Given the description of an element on the screen output the (x, y) to click on. 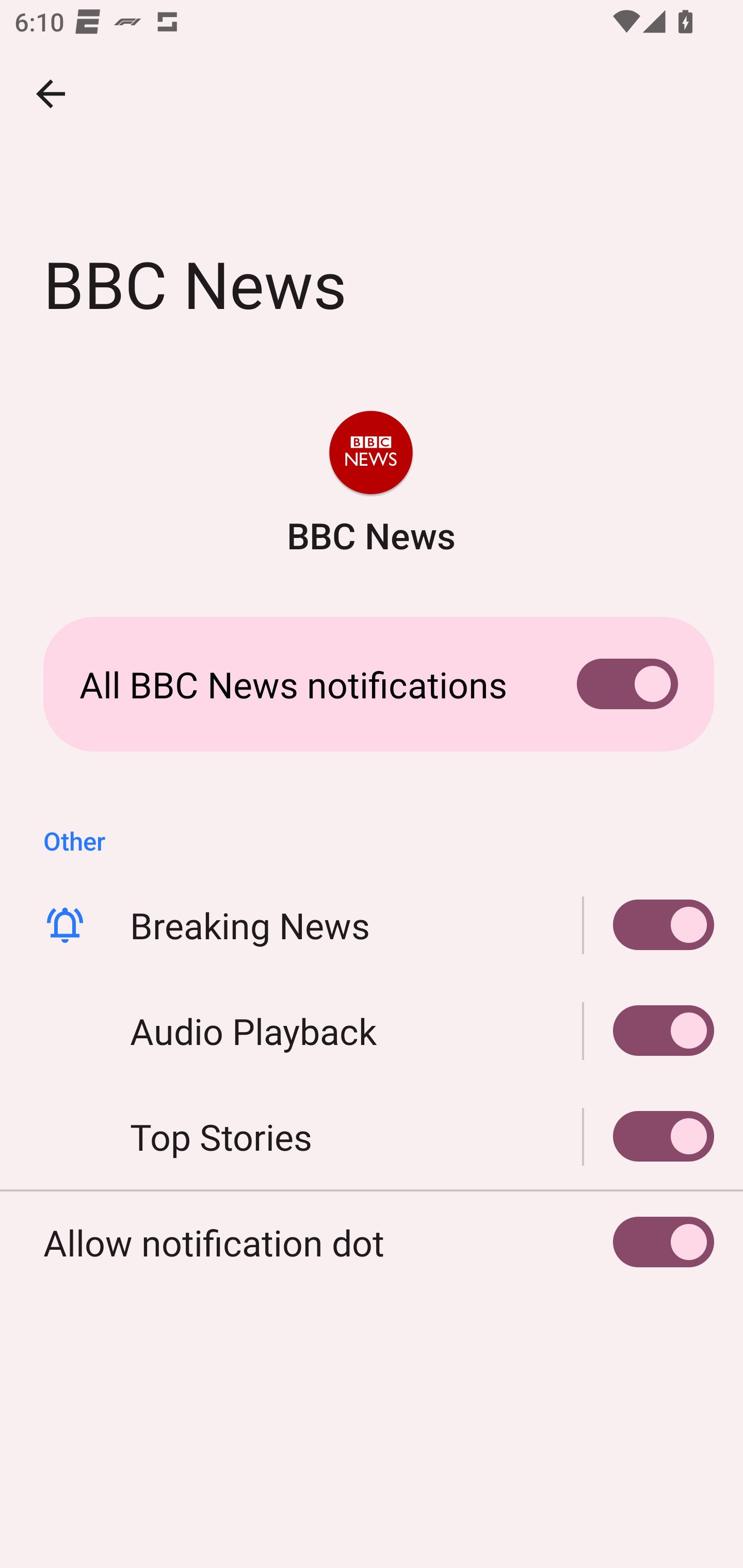
Navigate up (50, 93)
BBC News (370, 484)
All BBC News notifications (371, 684)
Breaking News (371, 924)
Breaking News (648, 924)
Audio Playback (371, 1030)
Audio Playback (648, 1030)
Top Stories (371, 1136)
Top Stories (648, 1136)
Allow notification dot (371, 1242)
